Given the description of an element on the screen output the (x, y) to click on. 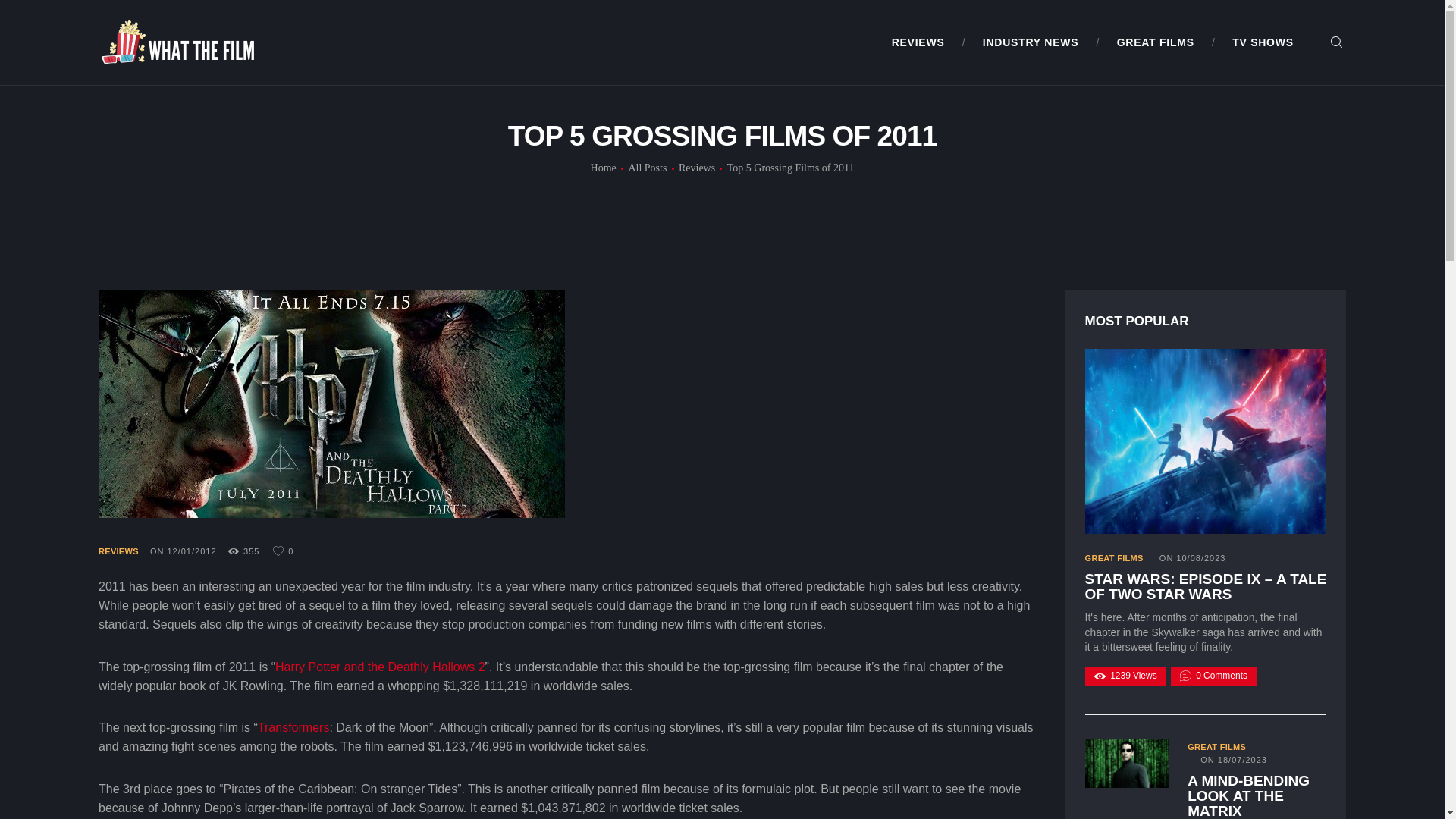
Harry Potter and the Deathly Hallows 2 (379, 666)
INDUSTRY NEWS (1030, 42)
View all posts in Great films (1217, 746)
REVIEWS (917, 42)
Reviews (696, 168)
0 (284, 551)
REVIEWS (118, 551)
Like (284, 551)
TV SHOWS (1262, 42)
355 (248, 551)
View all posts in Great films (1113, 557)
Home (603, 168)
GREAT FILMS (1154, 42)
Transformers (293, 727)
All Posts (646, 167)
